Given the description of an element on the screen output the (x, y) to click on. 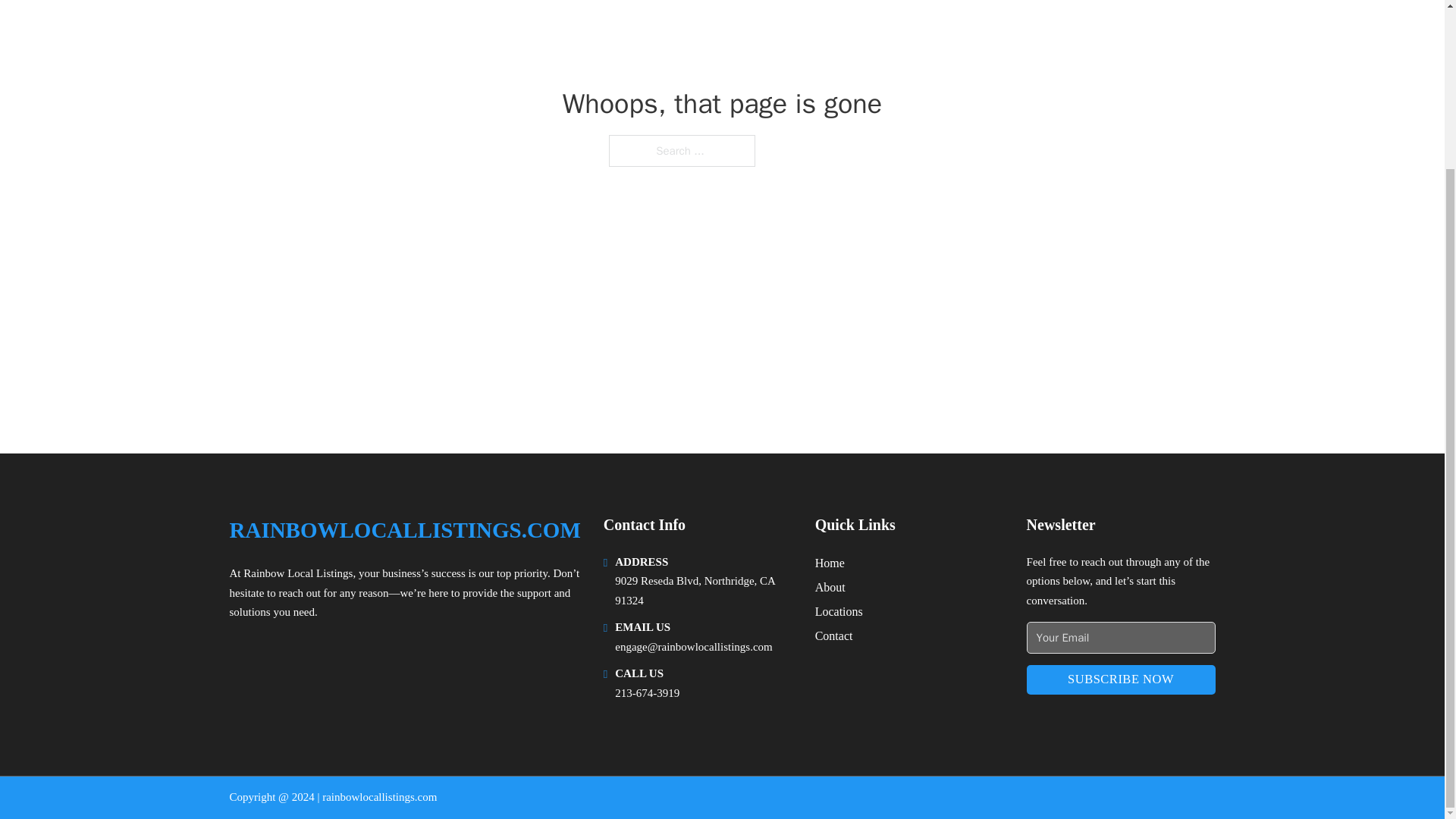
213-674-3919 (646, 693)
Locations (839, 611)
SUBSCRIBE NOW (1120, 679)
RAINBOWLOCALLISTINGS.COM (403, 529)
Home (829, 562)
About (830, 587)
Contact (834, 635)
